Given the description of an element on the screen output the (x, y) to click on. 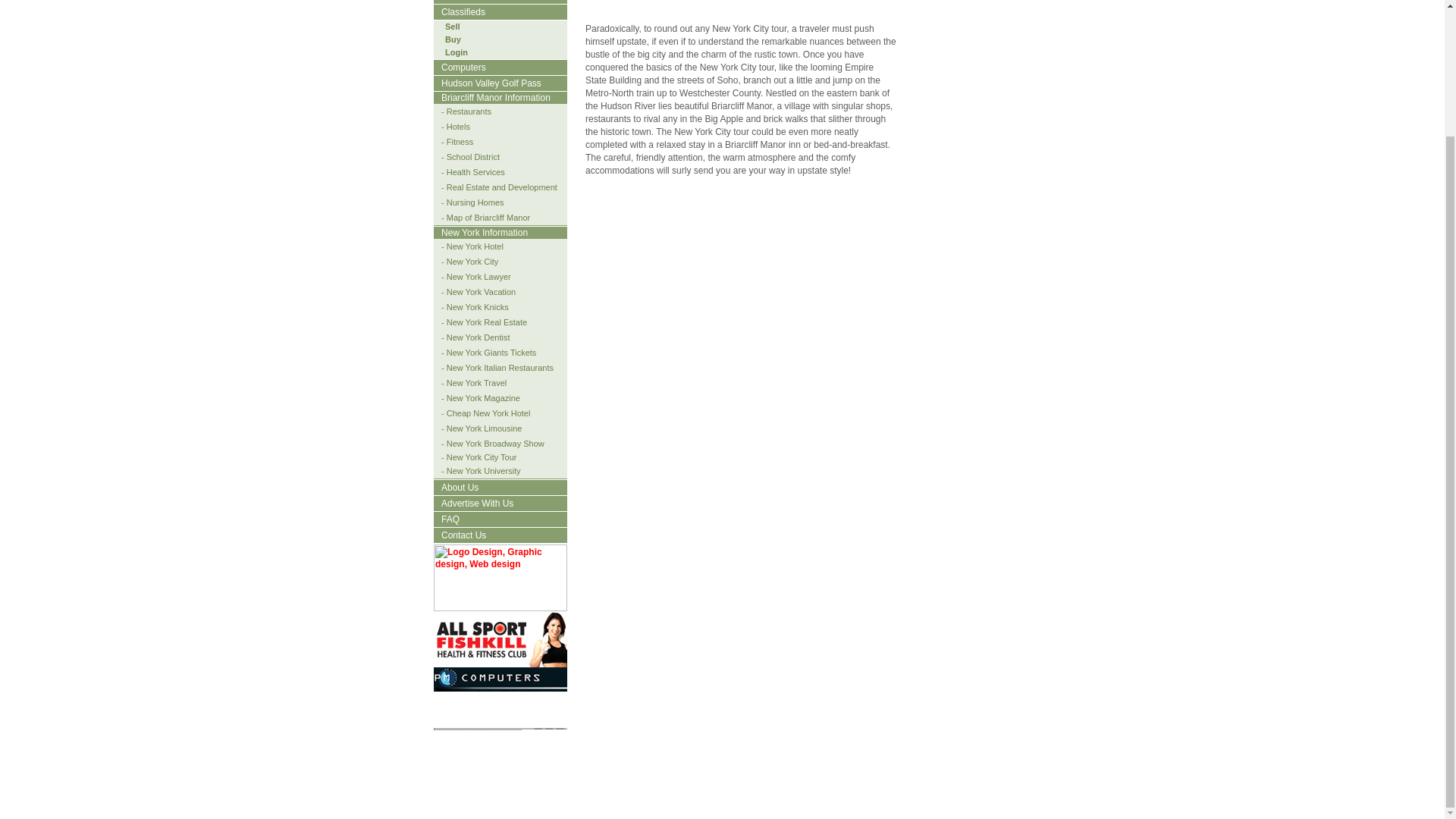
- Health Services (469, 171)
- New York Giants Tickets (484, 352)
Advertise with Us (500, 772)
- New York Knicks (470, 307)
Computers (500, 690)
- Restaurants (462, 111)
- Hotels (451, 126)
- New York Real Estate (480, 321)
- Real Estate and Development (495, 186)
Buy (447, 39)
